Given the description of an element on the screen output the (x, y) to click on. 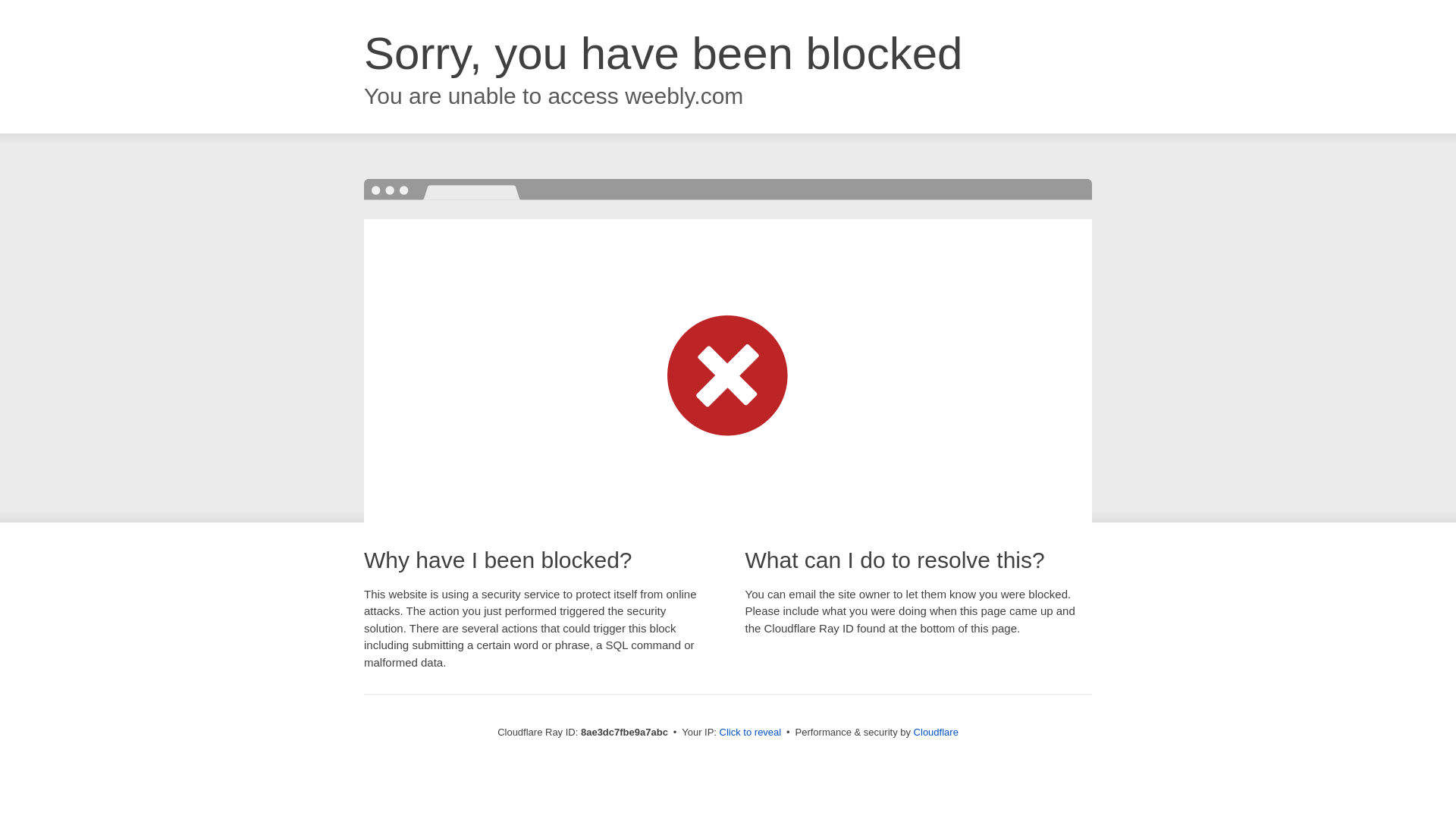
Cloudflare (936, 731)
Click to reveal (750, 732)
